Given the description of an element on the screen output the (x, y) to click on. 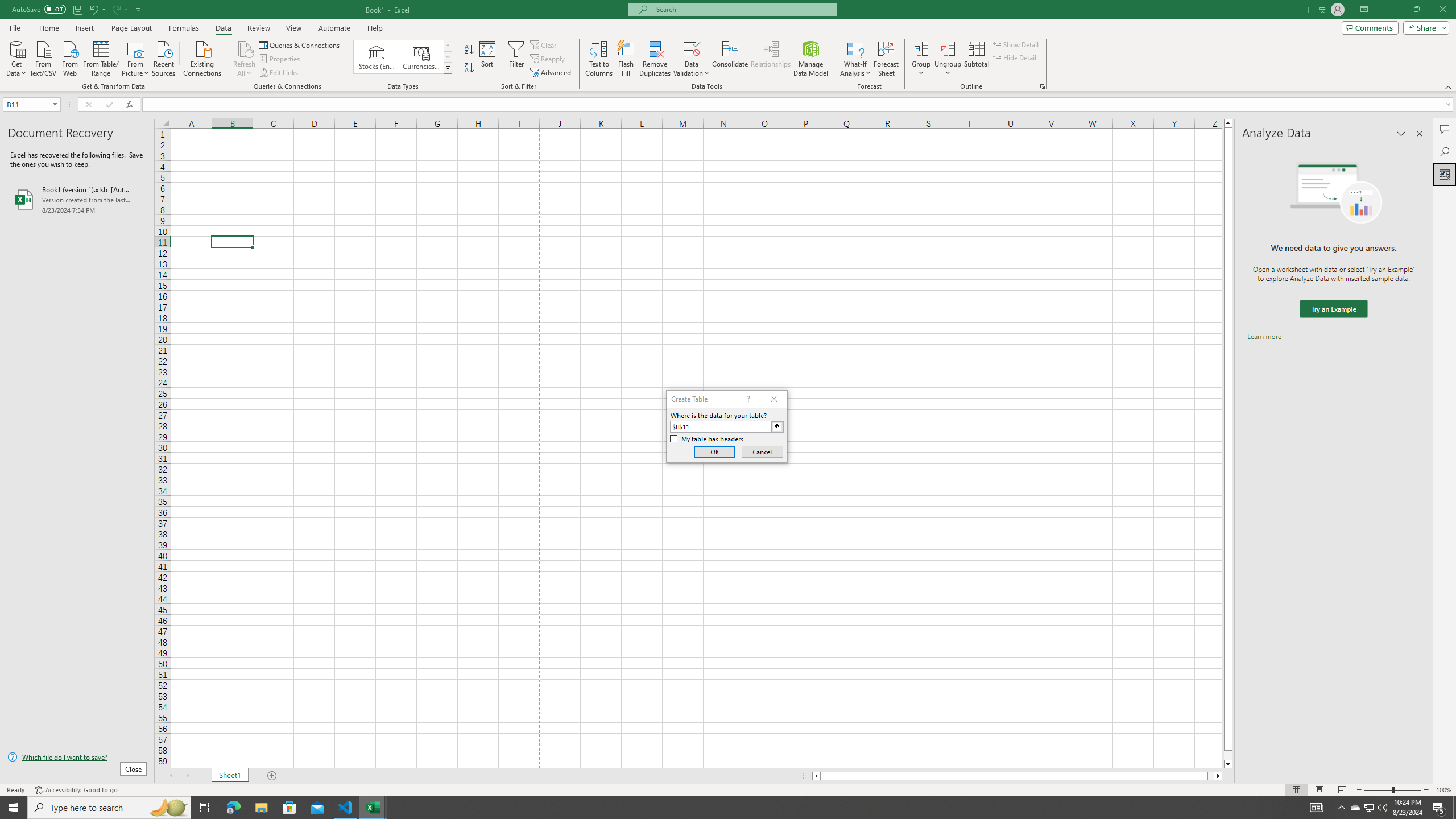
AutomationID: ConvertToLinkedEntity (403, 56)
Undo (96, 9)
Show Detail (1016, 44)
